Given the description of an element on the screen output the (x, y) to click on. 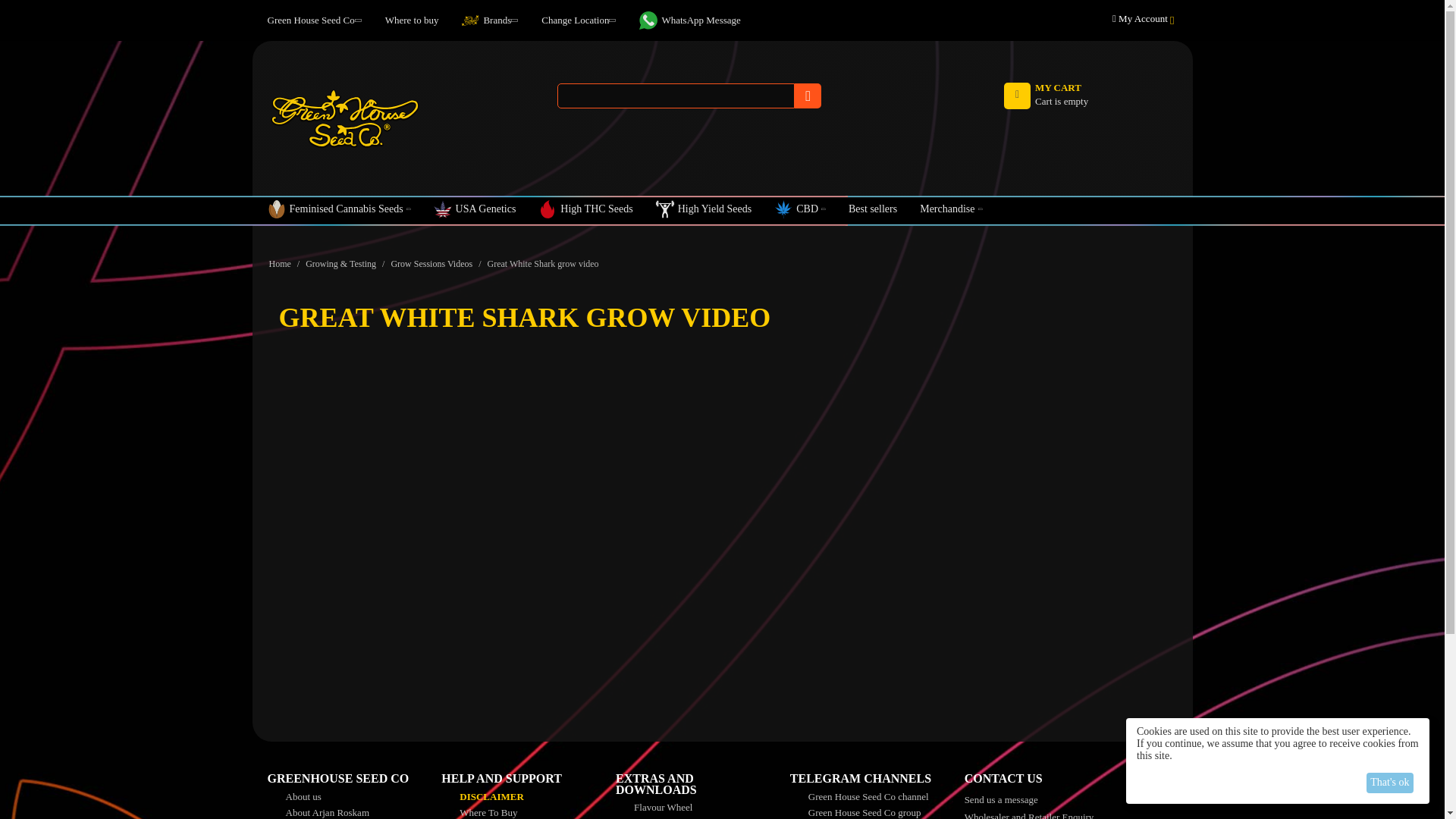
Created by potrace 1.15, written by Peter Selinger 2001-2017 (783, 208)
GHSC Logo (344, 118)
GHSC Logo (344, 117)
Search (807, 95)
